Given the description of an element on the screen output the (x, y) to click on. 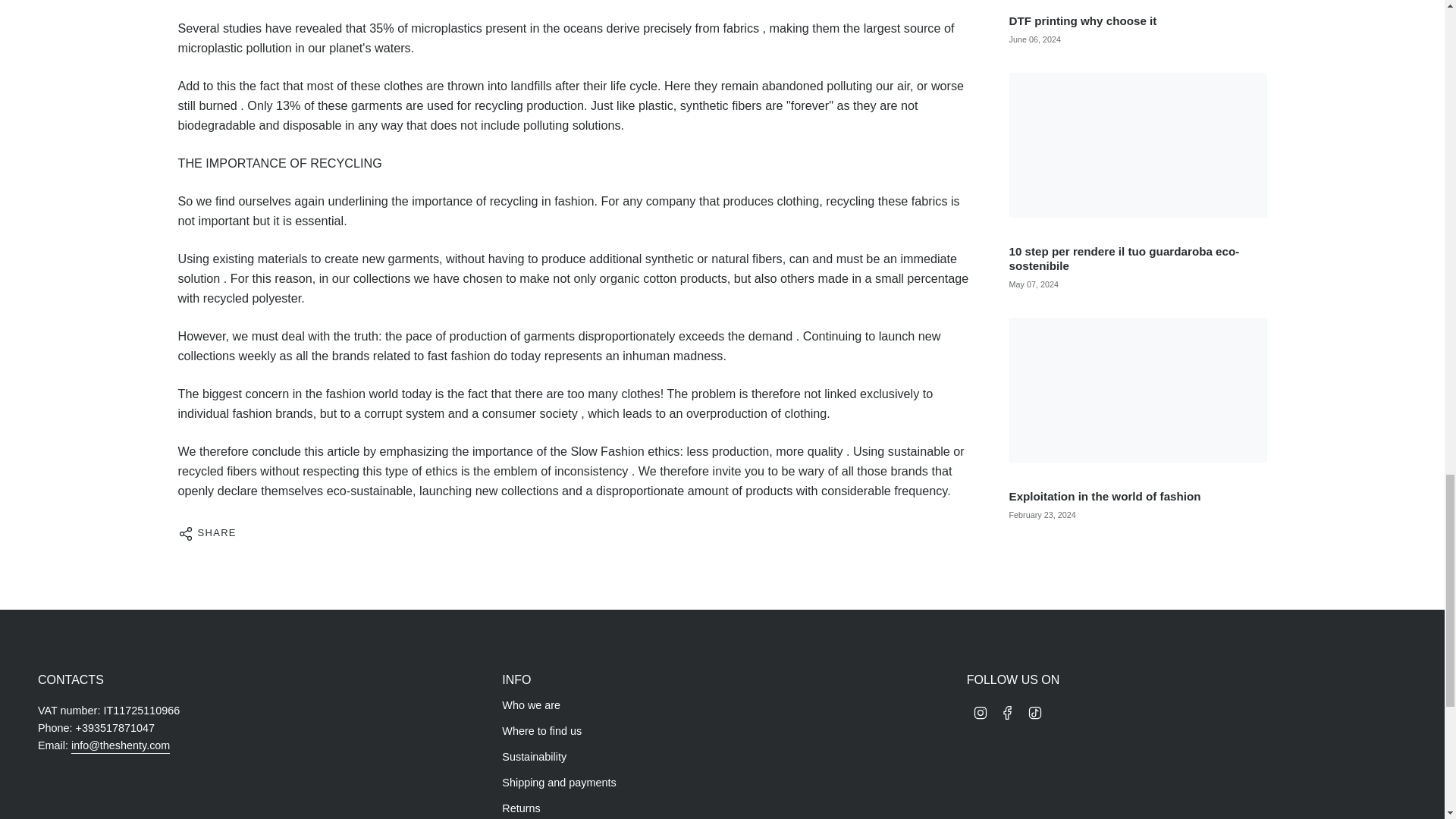
Shenty on TikTok (1034, 711)
Shenty on Instagram (980, 711)
Shenty on Facebook (1007, 711)
